Given the description of an element on the screen output the (x, y) to click on. 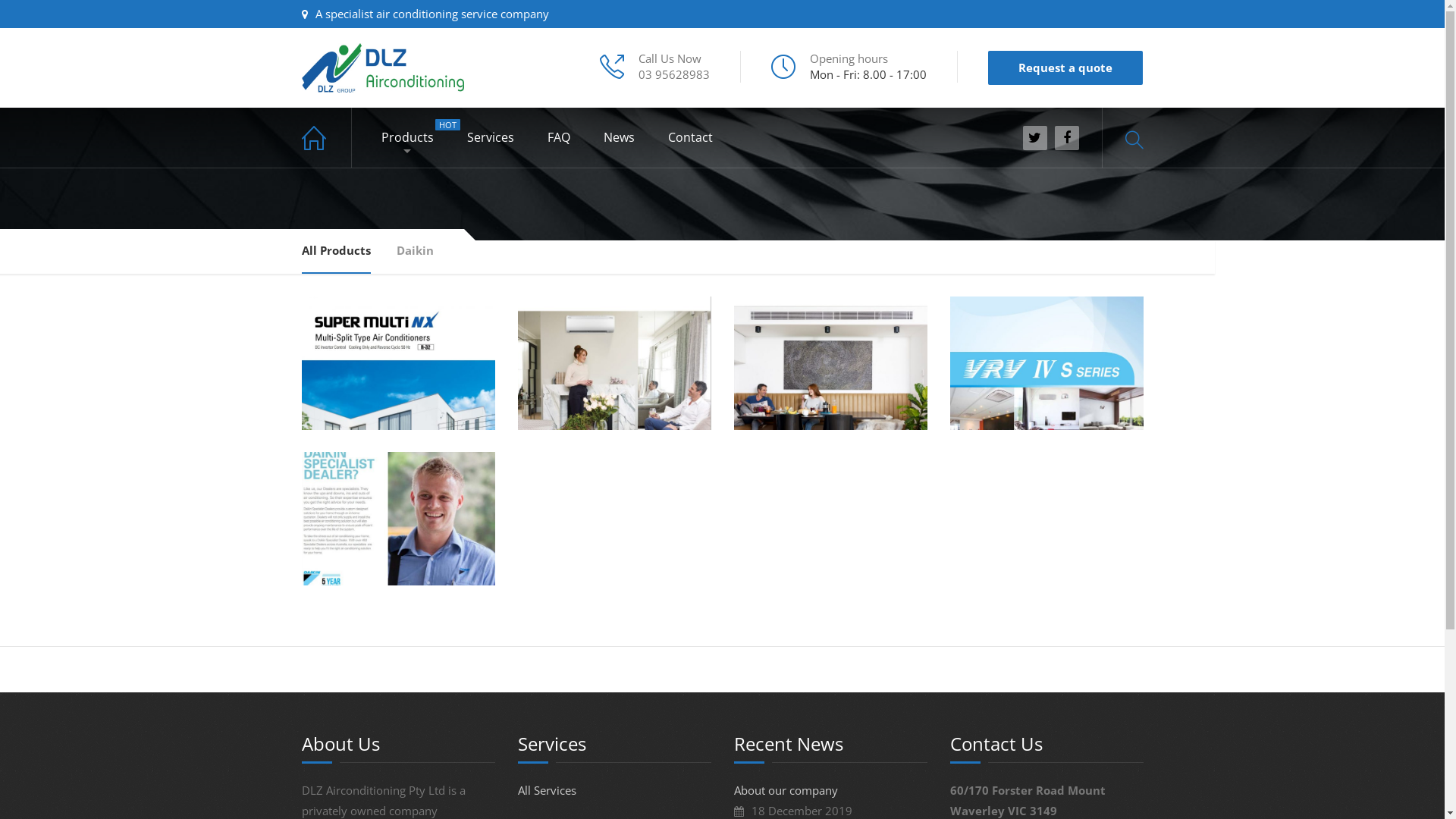
Contact Element type: text (689, 137)
Request a quote Element type: text (1065, 67)
All Services Element type: text (546, 789)
Search Element type: text (1126, 185)
Services Element type: text (490, 137)
About our company Element type: text (785, 789)
Products
HOT Element type: text (406, 137)
Daikin Element type: text (414, 256)
FAQ Element type: text (558, 137)
All Products Element type: text (335, 256)
News Element type: text (618, 137)
Home Element type: text (326, 137)
